Given the description of an element on the screen output the (x, y) to click on. 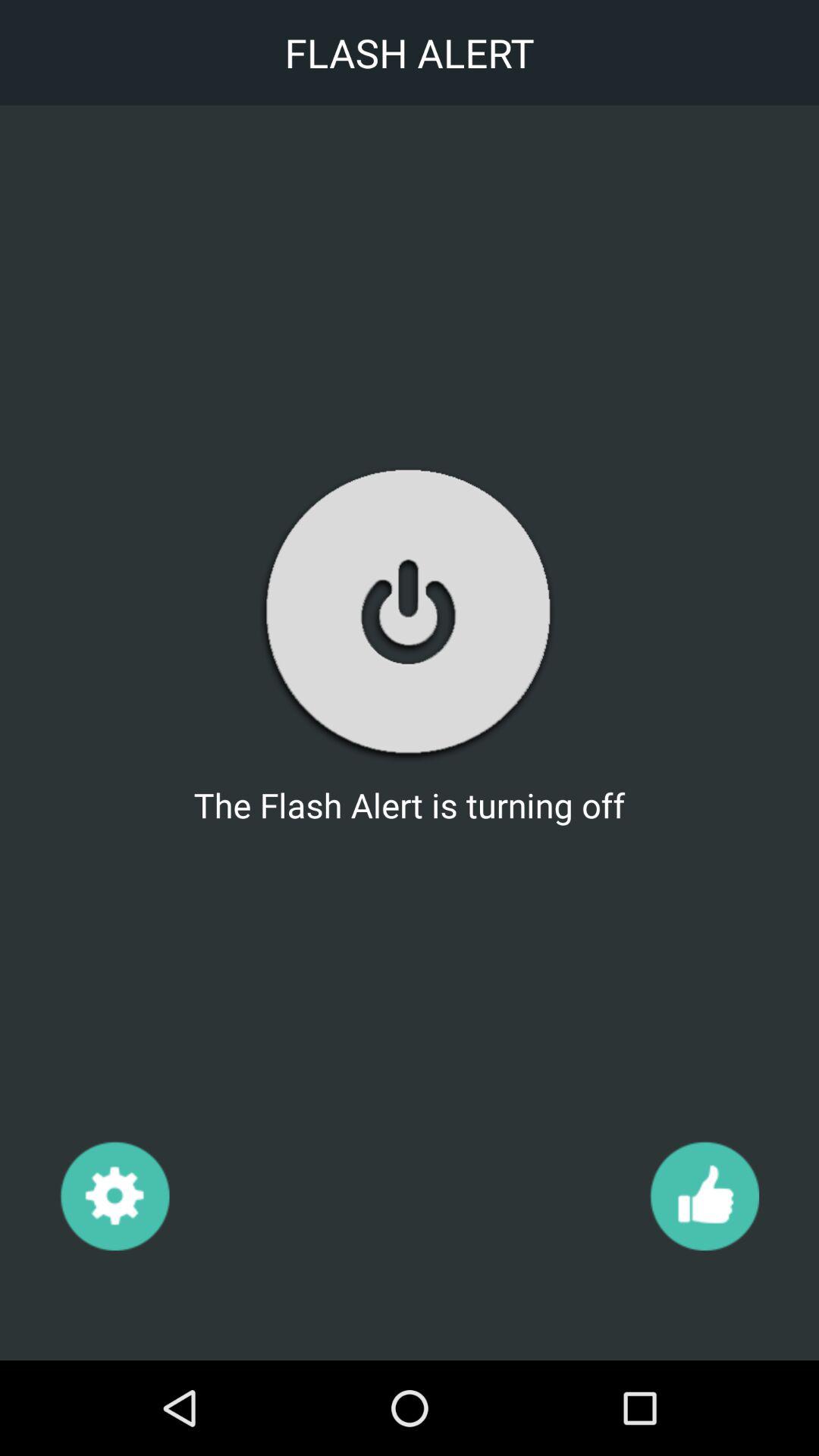
power off (409, 612)
